Given the description of an element on the screen output the (x, y) to click on. 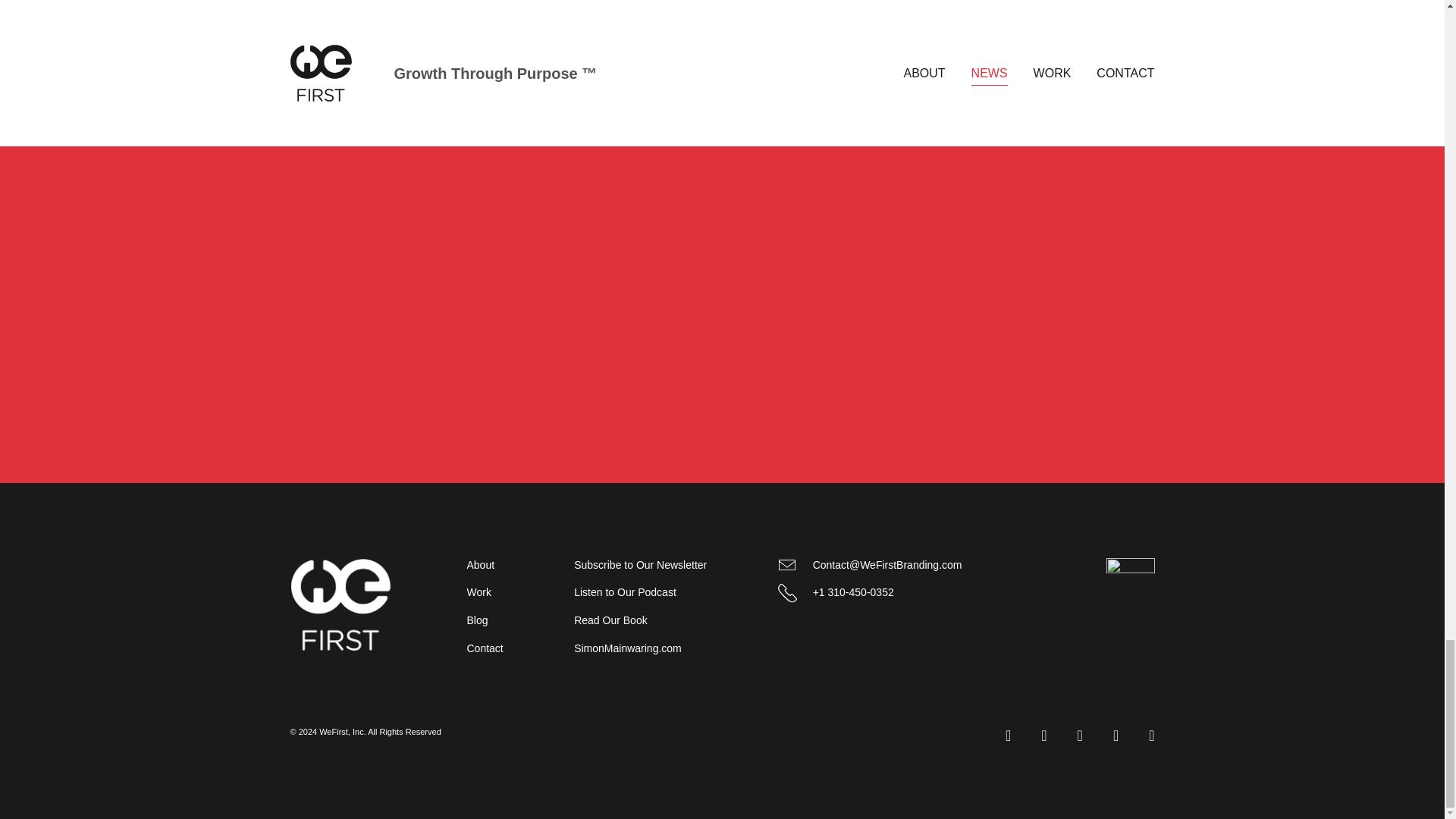
Submit (941, 387)
Blog (477, 620)
Contact (485, 648)
Subscribe to Our Newsletter (639, 564)
SimonMainwaring.com (627, 648)
Read Our Book (610, 620)
Work (479, 592)
About (481, 564)
Listen to Our Podcast (625, 592)
